Given the description of an element on the screen output the (x, y) to click on. 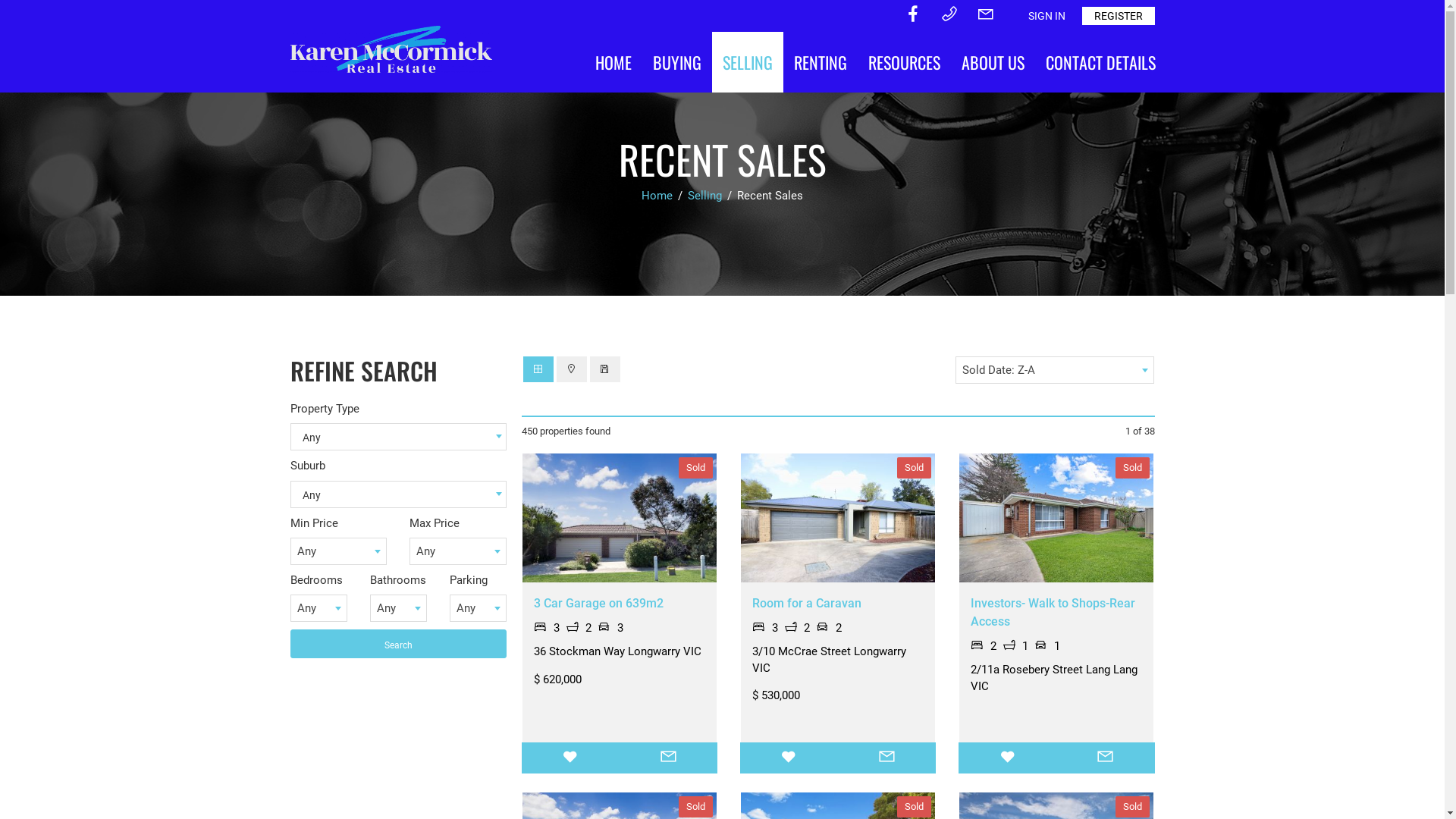
REGISTER Element type: text (1117, 15)
ABOUT US Element type: text (992, 61)
RESOURCES Element type: text (903, 61)
Search Element type: text (397, 643)
SELLING Element type: text (746, 61)
RENTING Element type: text (819, 61)
3 Car Garage on 639m2 Element type: text (598, 603)
Home Element type: text (658, 195)
Selling Element type: text (705, 195)
HOME Element type: text (612, 61)
Sold Element type: text (1056, 517)
Add Favourites Element type: hover (1007, 757)
SIGN IN Element type: text (1046, 15)
BUYING Element type: text (676, 61)
Room for a Caravan Element type: text (806, 603)
Contact Agent Element type: hover (886, 757)
Sold Element type: text (837, 517)
Investors- Walk to Shops-Rear Access Element type: text (1052, 612)
Contact Agent Element type: hover (668, 757)
Contact Agent Element type: hover (1105, 757)
Sold Element type: text (618, 517)
Add Favourites Element type: hover (569, 757)
CONTACT DETAILS Element type: text (1099, 61)
Add Favourites Element type: hover (788, 757)
Save Search Element type: hover (604, 369)
Gallery View Element type: hover (538, 369)
Map View Element type: hover (571, 369)
